Given the description of an element on the screen output the (x, y) to click on. 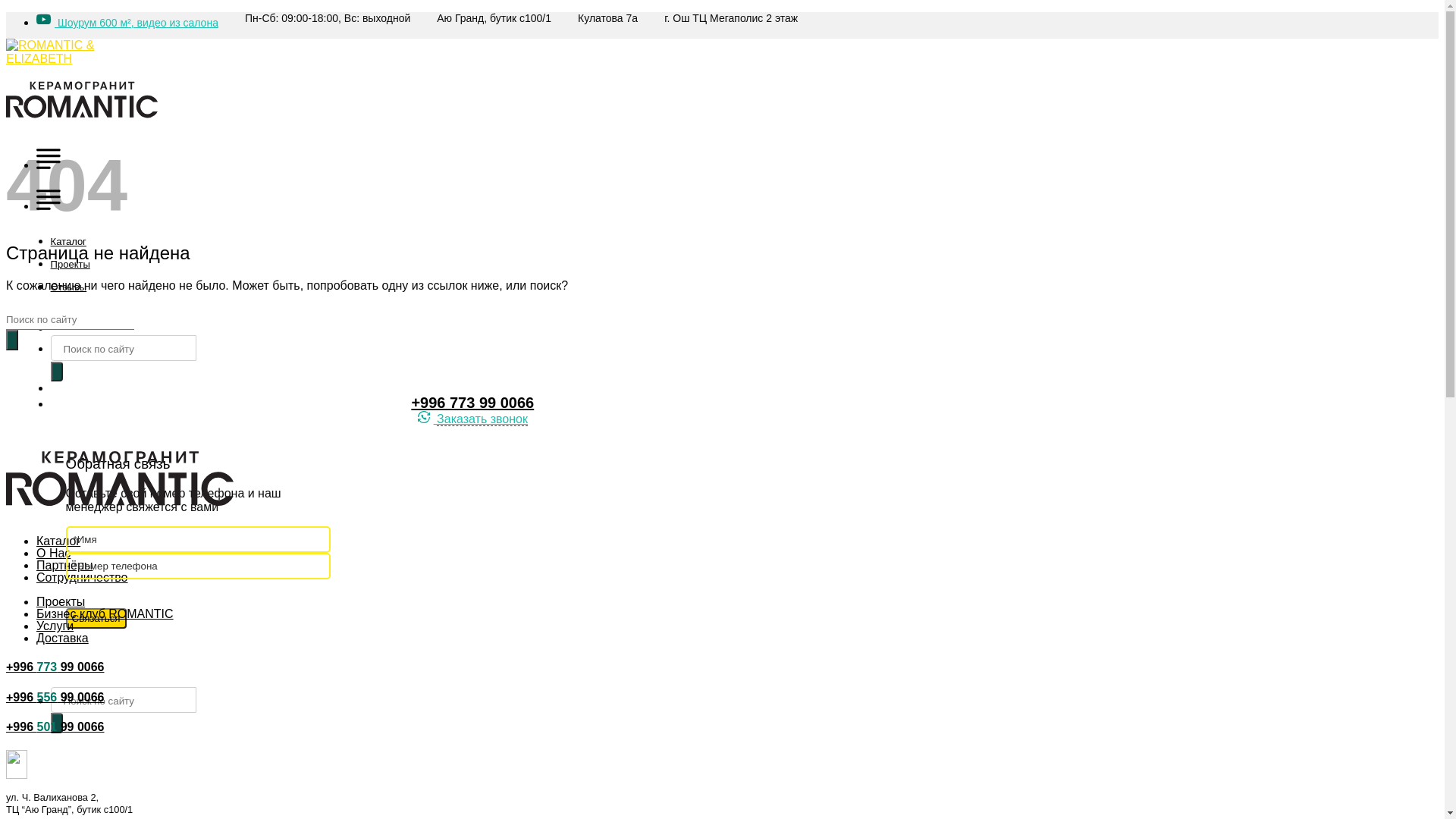
+996 556 99 0066 Element type: text (54, 696)
Skip to content Element type: text (5, 11)
+996 773 99 0066 Element type: text (472, 402)
+996 773 99 0066 Element type: text (54, 666)
+996 501 99 0066 Element type: text (54, 726)
